Given the description of an element on the screen output the (x, y) to click on. 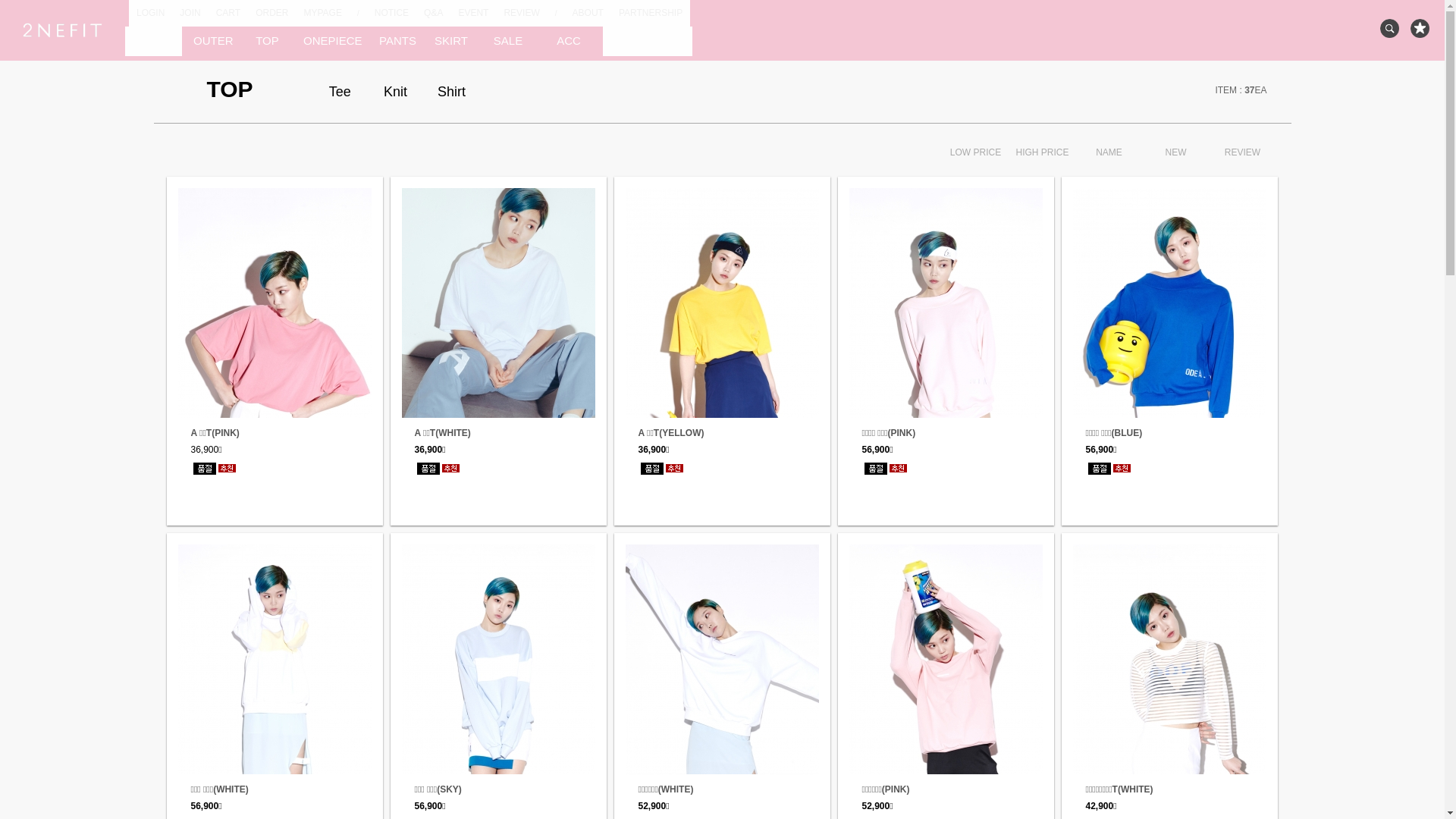
ABOUT Element type: text (587, 13)
SKIRT Element type: text (451, 40)
MYPAGE Element type: text (321, 13)
Knit Element type: text (395, 91)
LOOKBOOK Element type: text (647, 41)
TOP Element type: text (267, 40)
Shirt Element type: text (451, 91)
HOME Element type: text (153, 41)
ORDER Element type: text (271, 13)
EVENT Element type: text (472, 13)
JOIN Element type: text (189, 13)
REVIEW Element type: text (520, 13)
LOGIN Element type: text (150, 13)
Tee Element type: text (339, 91)
PARTNERSHIP Element type: text (650, 13)
Q&A Element type: text (433, 13)
OUTER Element type: text (212, 40)
NOTICE Element type: text (391, 13)
SALE Element type: text (507, 40)
ACC Element type: text (568, 40)
CART Element type: text (227, 13)
ONEPIECE Element type: text (329, 40)
PANTS Element type: text (394, 40)
